Given the description of an element on the screen output the (x, y) to click on. 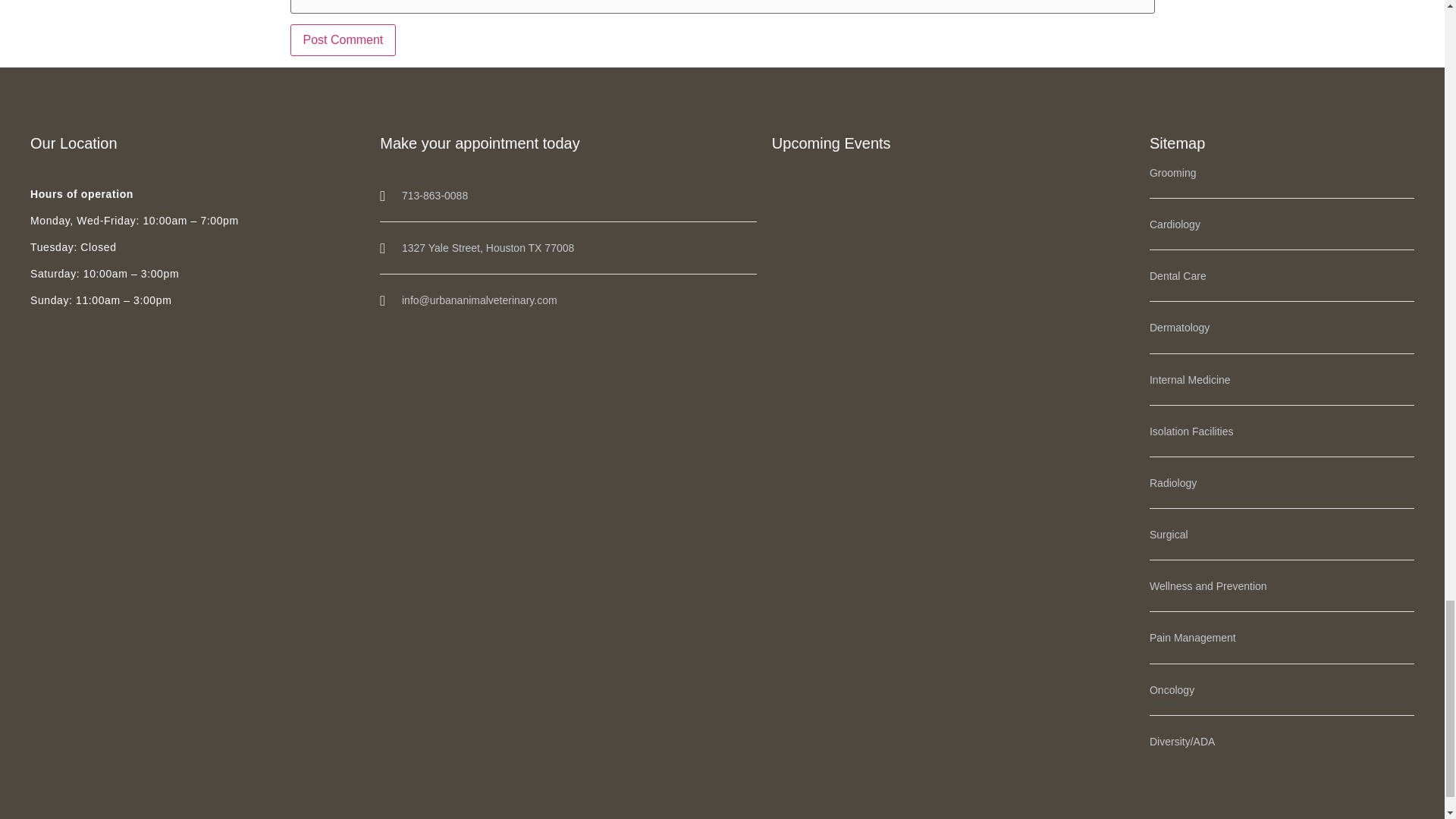
Post Comment (342, 40)
